Given the description of an element on the screen output the (x, y) to click on. 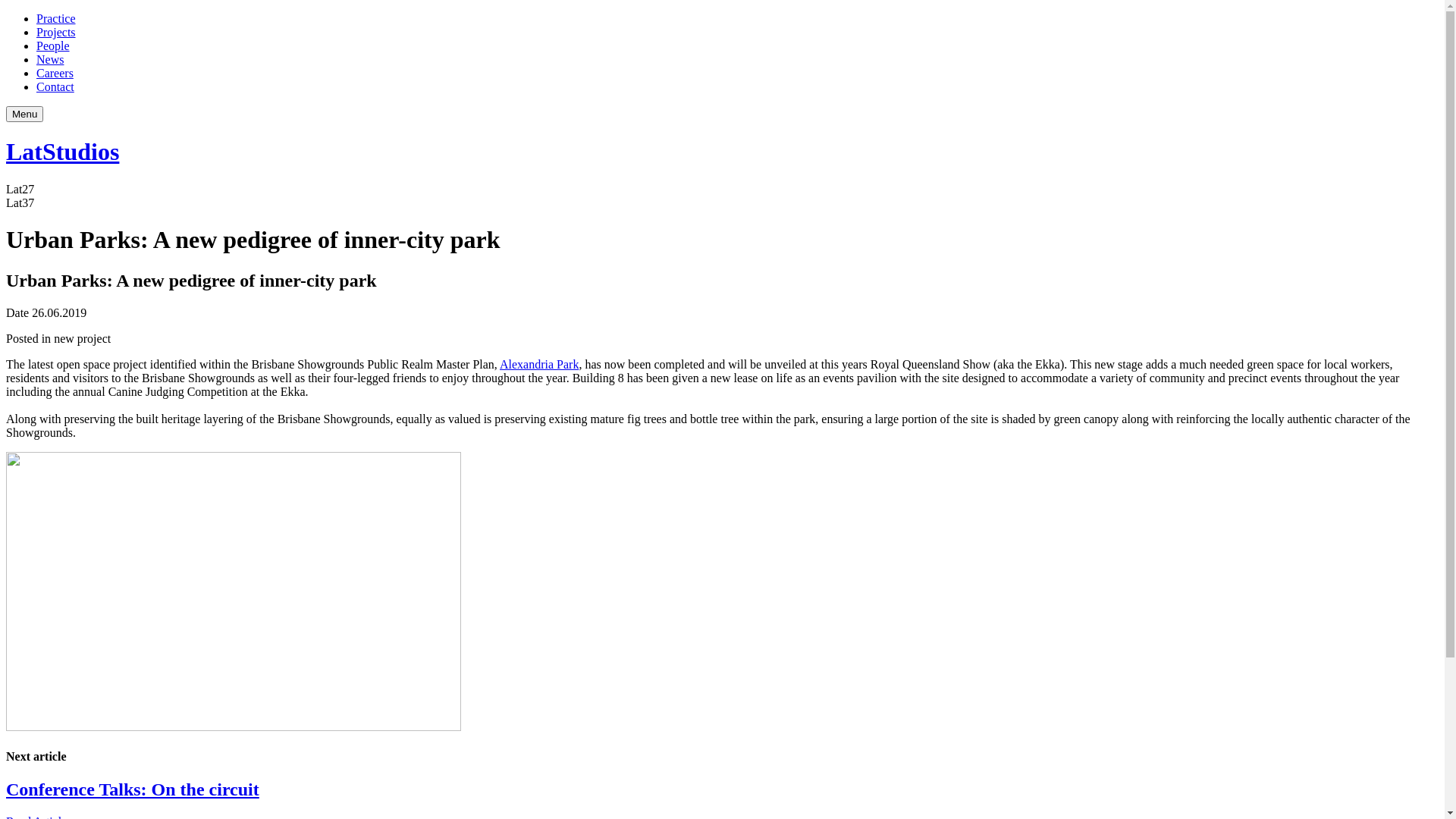
Alexandria Park Element type: text (538, 363)
Careers Element type: text (54, 72)
LatStudios Element type: text (722, 152)
Projects Element type: text (55, 31)
Conference Talks: On the circuit Element type: text (132, 789)
Practice Element type: text (55, 18)
Contact Element type: text (55, 86)
People Element type: text (52, 45)
News Element type: text (49, 59)
Menu Element type: text (24, 114)
